Given the description of an element on the screen output the (x, y) to click on. 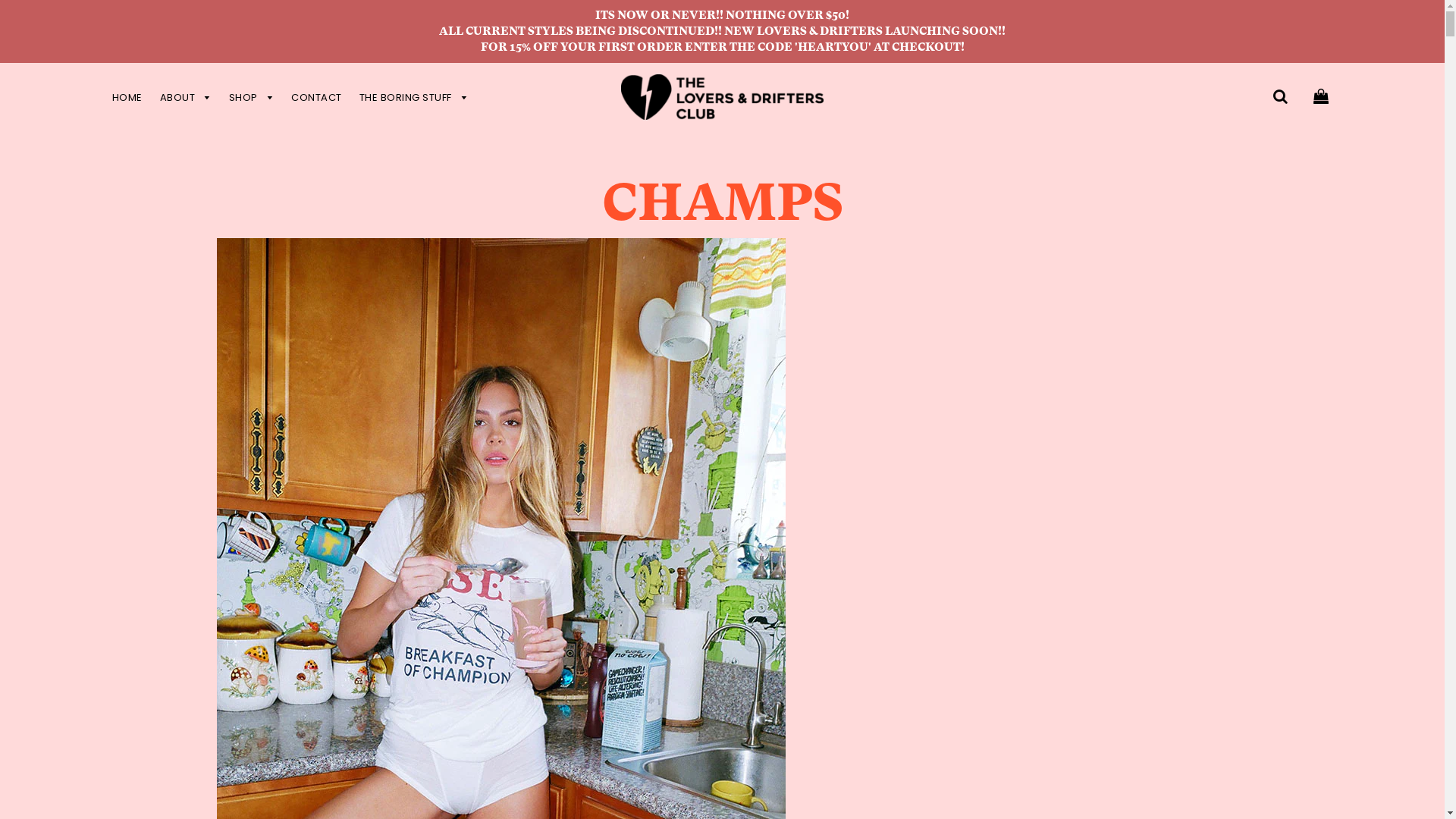
HOME Element type: text (127, 97)
SHOP Element type: text (251, 97)
ABOUT Element type: text (184, 97)
THE BORING STUFF Element type: text (409, 97)
CONTACT Element type: text (316, 97)
